Given the description of an element on the screen output the (x, y) to click on. 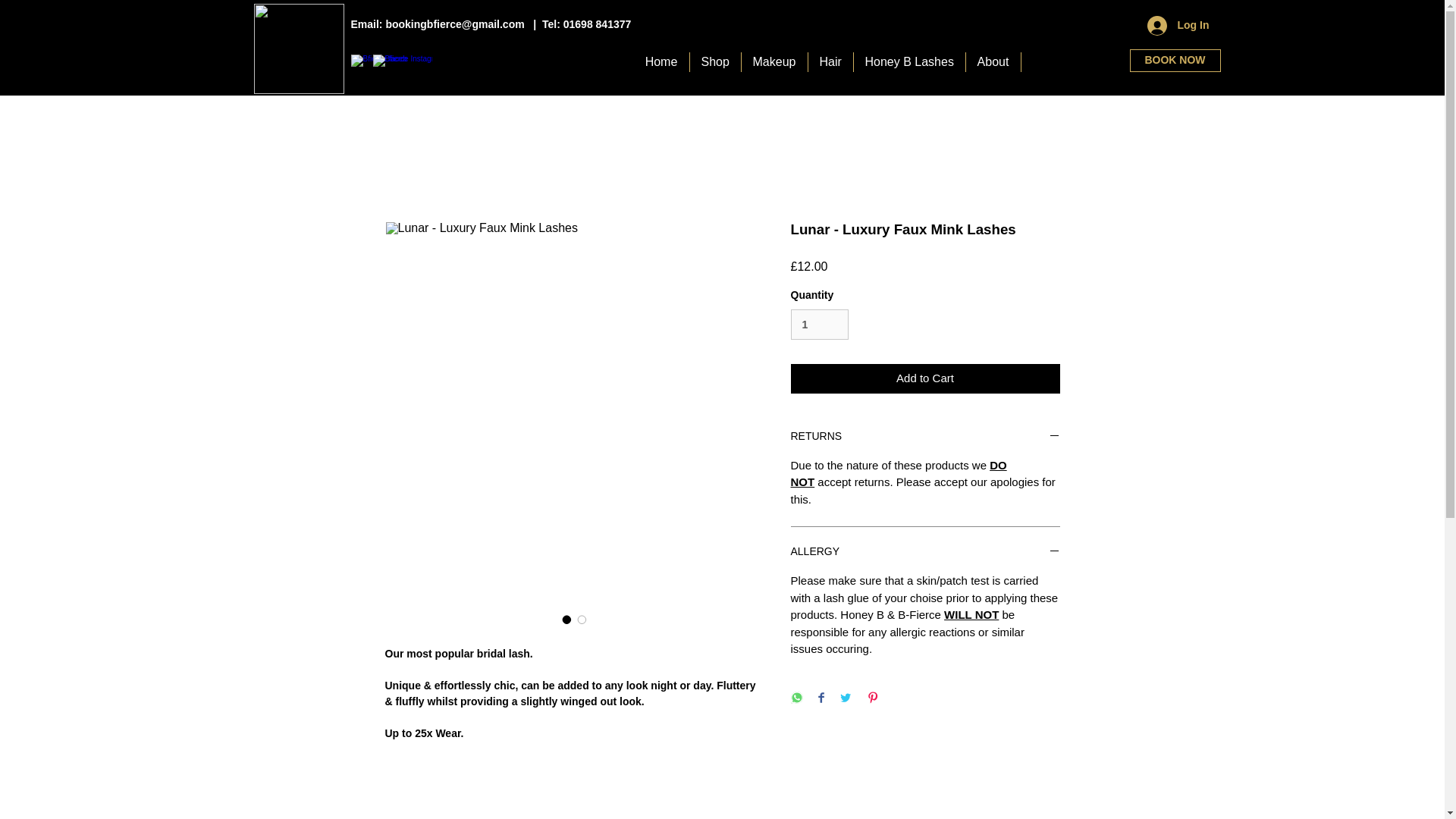
RETURNS (924, 436)
1 (818, 324)
Home (660, 62)
Hair (830, 62)
About (993, 62)
BOOK NOW (1175, 60)
ALLERGY (924, 552)
Log In (1177, 25)
Add to Cart (924, 378)
Shop (715, 62)
